Given the description of an element on the screen output the (x, y) to click on. 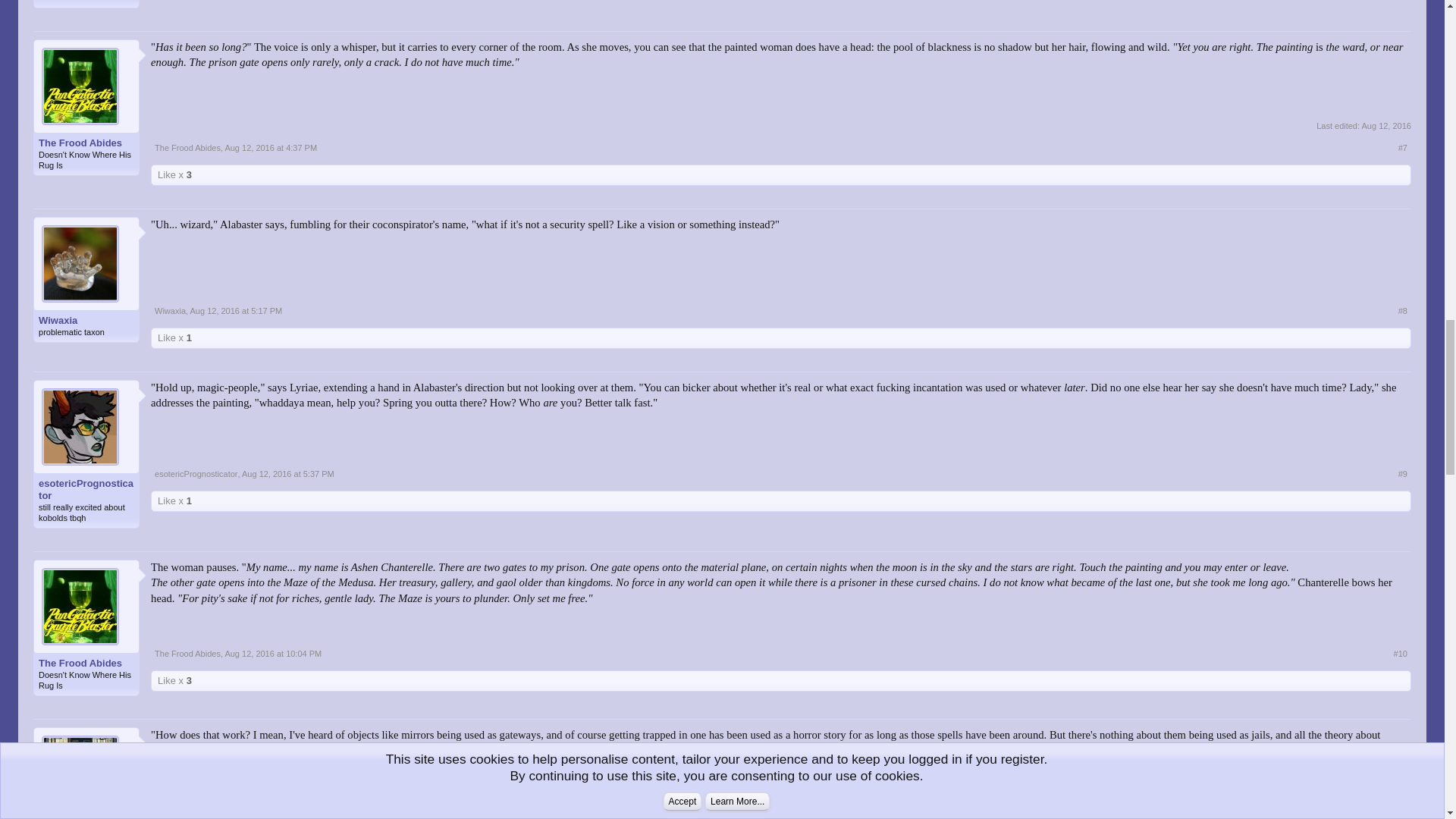
Permalink (270, 147)
Permalink (236, 310)
Aug 12, 2016 at 4:39 PM (1385, 125)
